Given the description of an element on the screen output the (x, y) to click on. 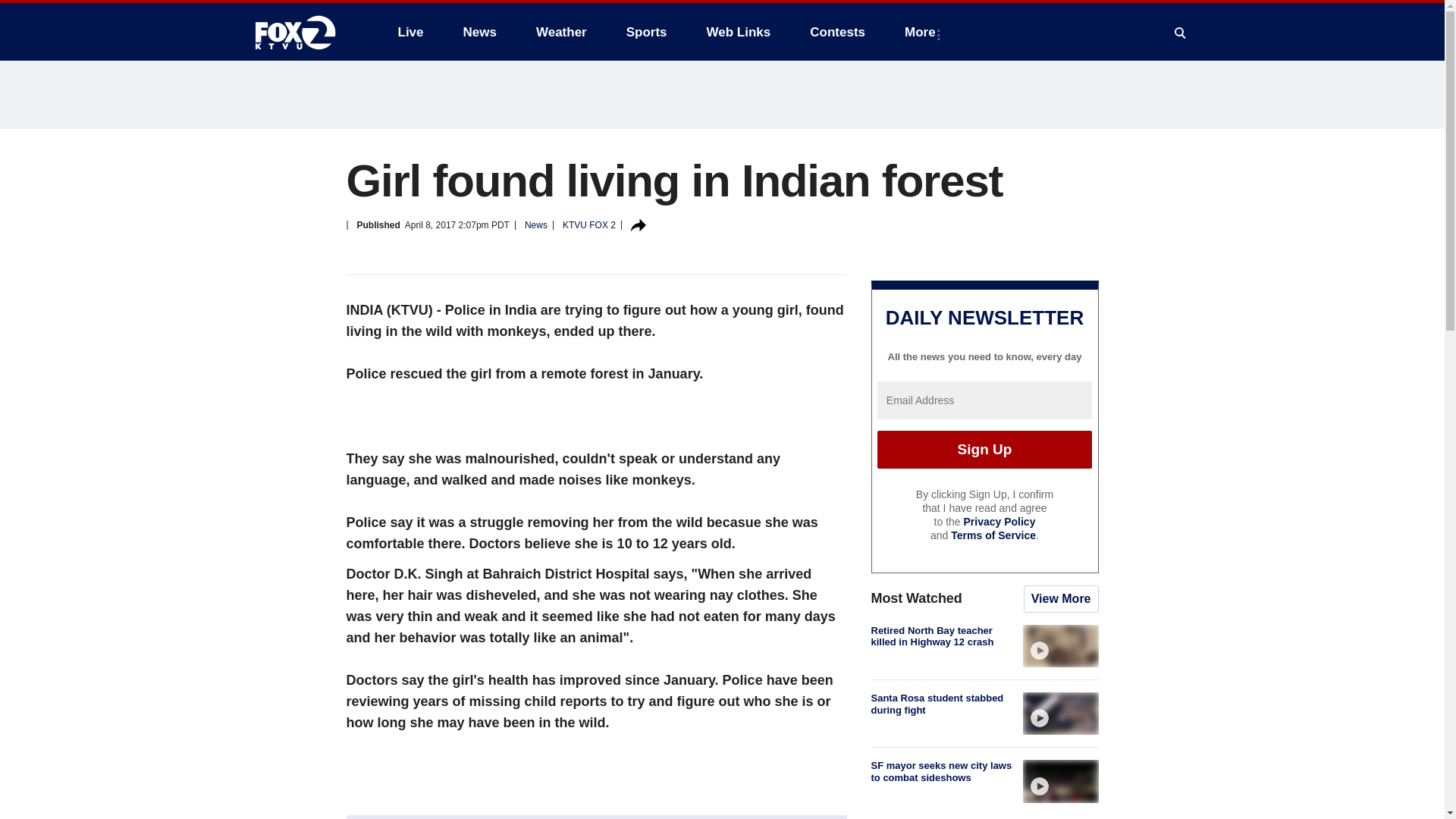
Sign Up (984, 449)
Live (410, 32)
Weather (561, 32)
News (479, 32)
Sports (646, 32)
Web Links (738, 32)
Contests (837, 32)
More (922, 32)
